Given the description of an element on the screen output the (x, y) to click on. 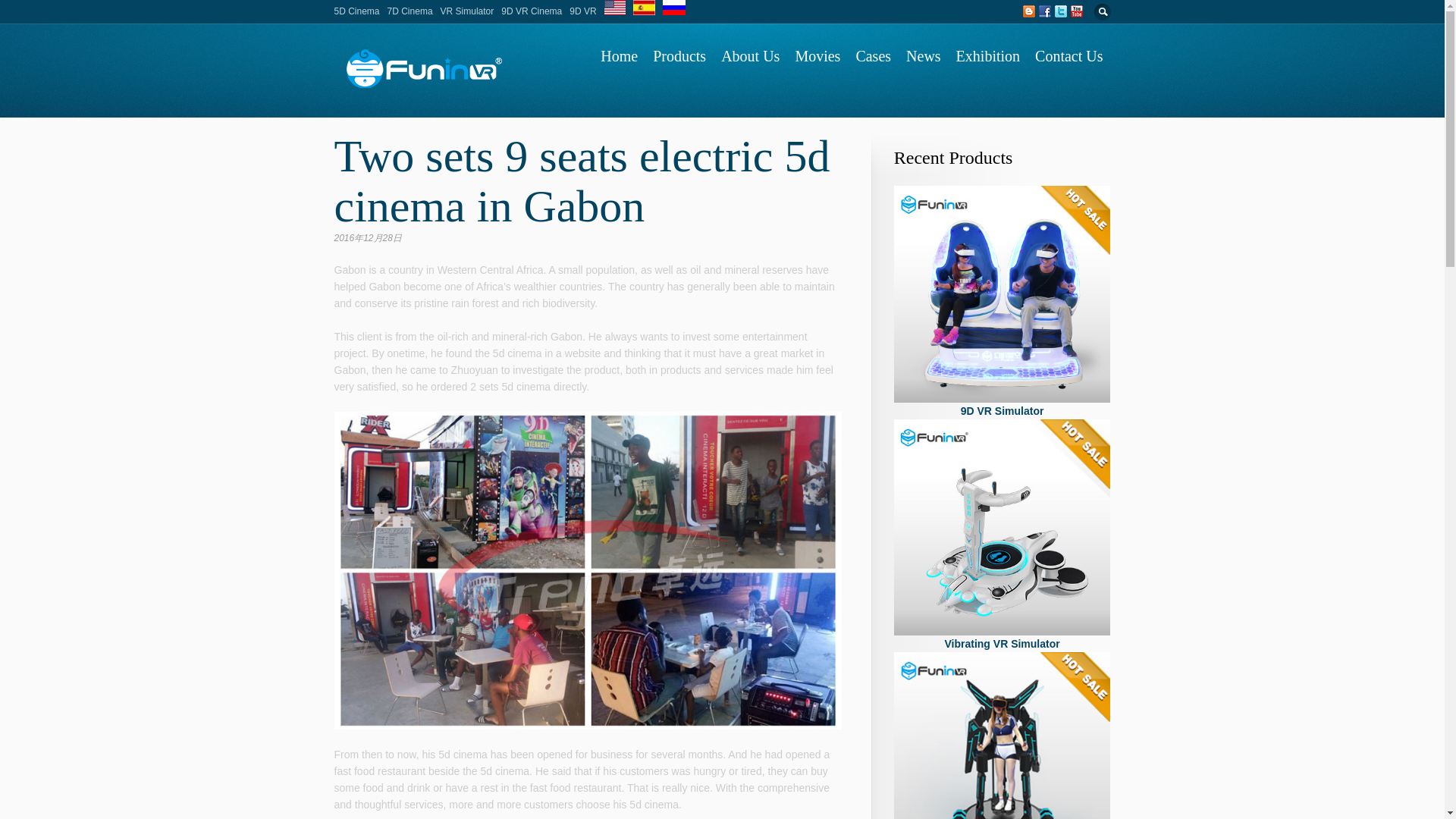
9D VR Cinema (531, 10)
Cases (872, 56)
Go back to the homepage (422, 85)
5D Cinema (355, 10)
Products (679, 56)
News (923, 56)
Home (618, 56)
7D Cinema (409, 10)
Home (402, 98)
9D VR (1001, 735)
